Given the description of an element on the screen output the (x, y) to click on. 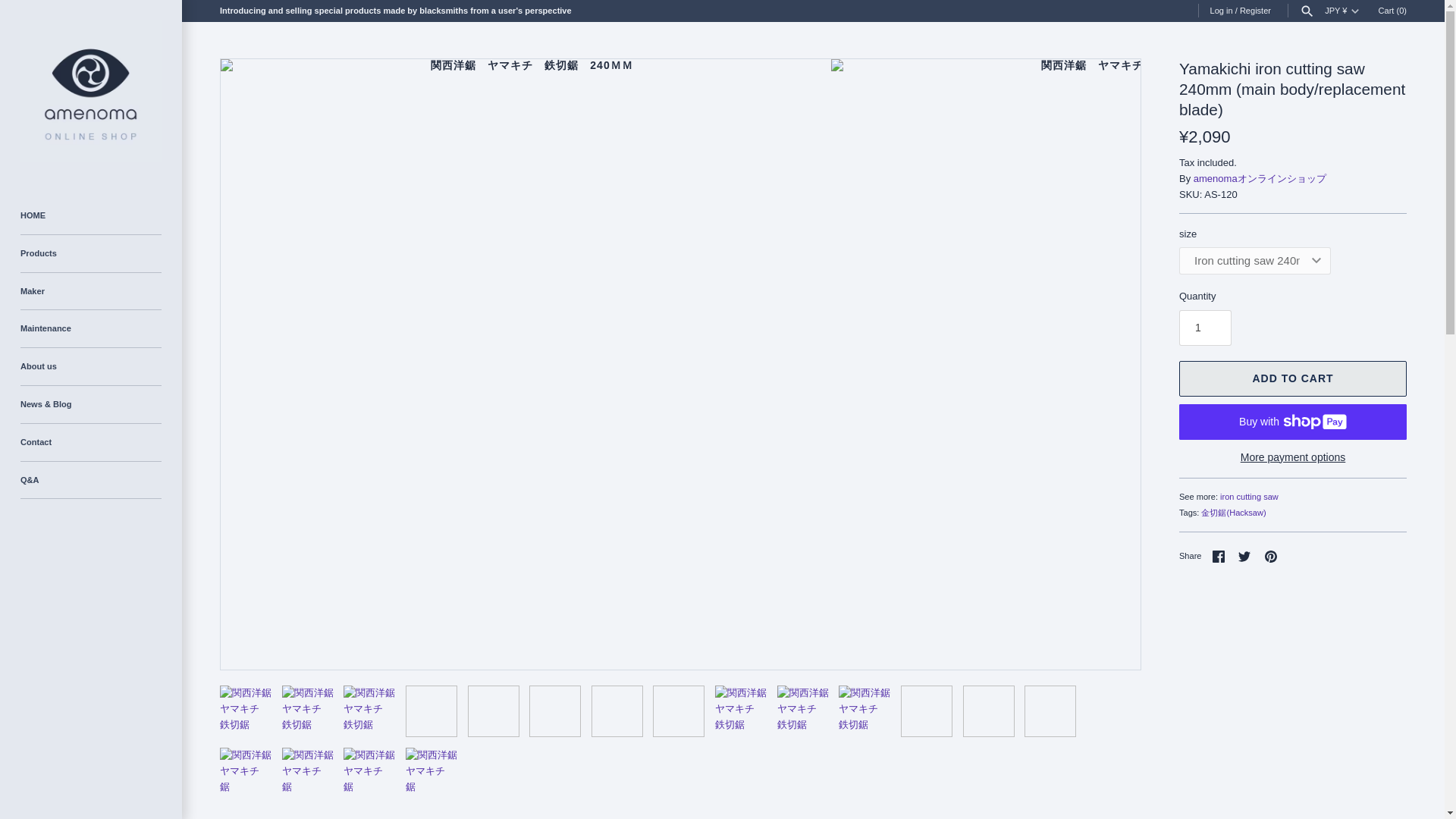
Products (90, 253)
Pinterest (1270, 556)
Twitter (1244, 556)
Maker (90, 291)
iron cutting saw (1249, 496)
Facebook (1218, 556)
HOME (90, 216)
1 (1205, 327)
Register (1255, 10)
Log in (1221, 10)
